Given the description of an element on the screen output the (x, y) to click on. 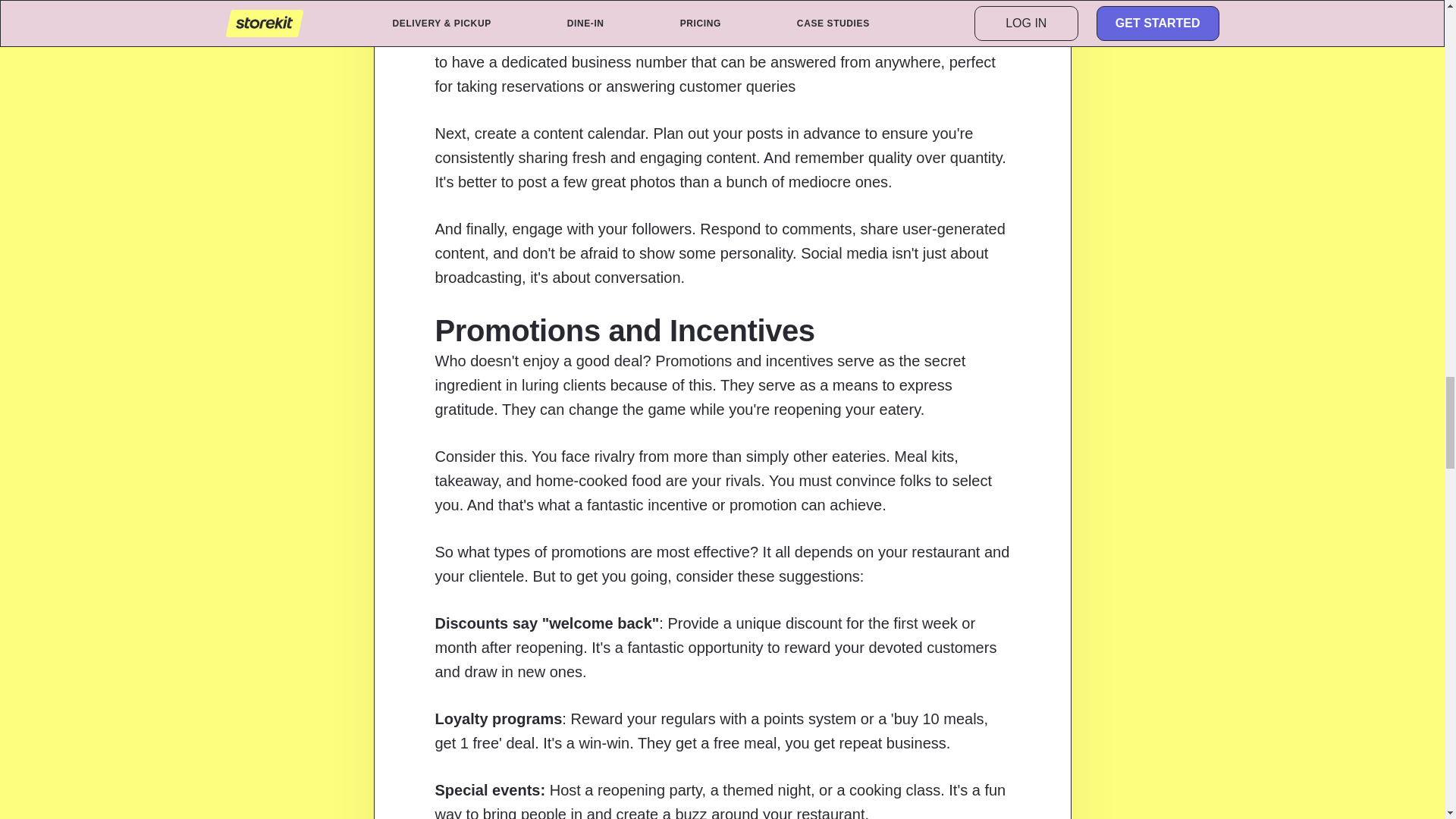
what are virtual phone numbers (709, 24)
